Given the description of an element on the screen output the (x, y) to click on. 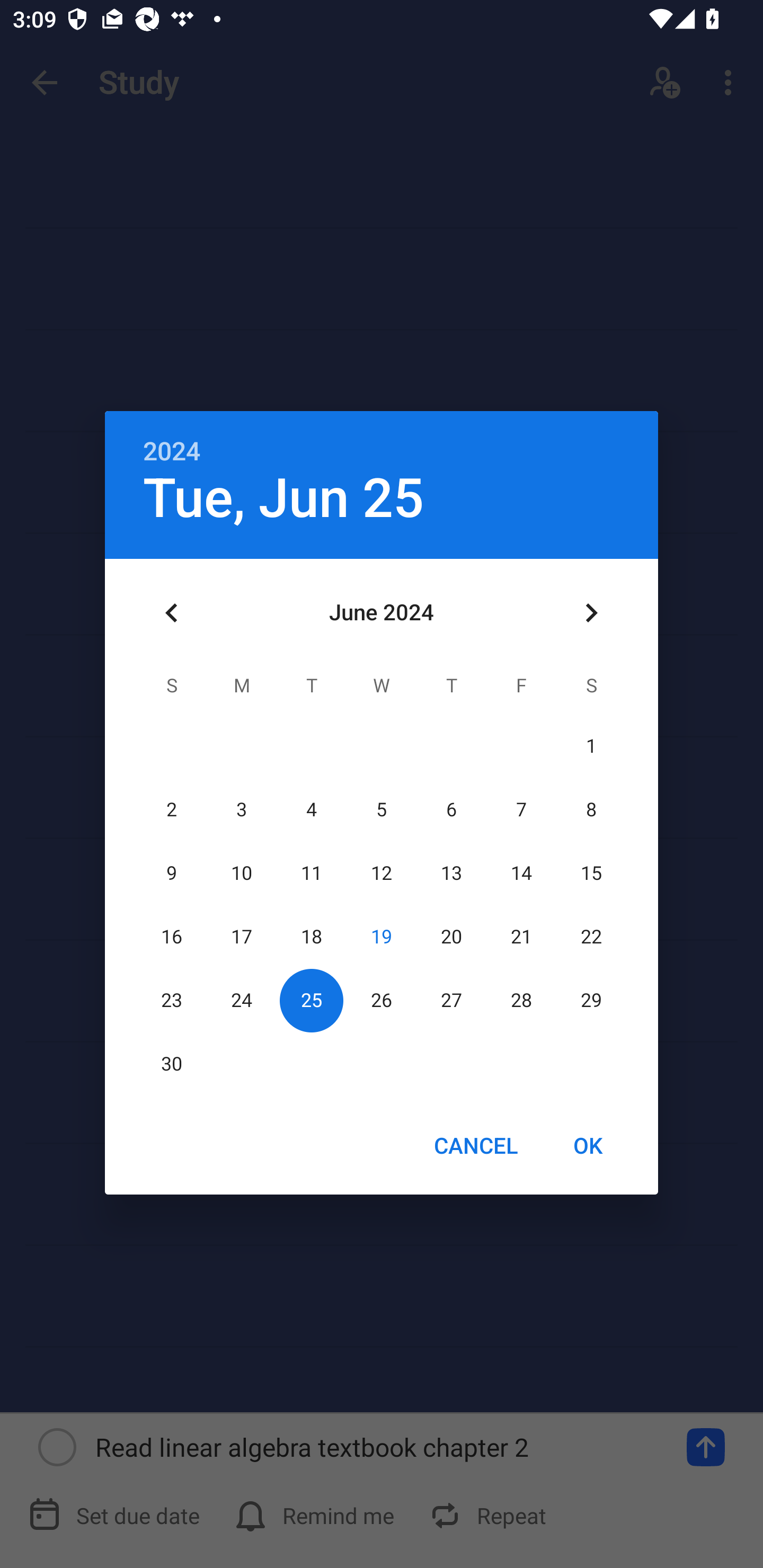
OK (588, 1145)
